Given the description of an element on the screen output the (x, y) to click on. 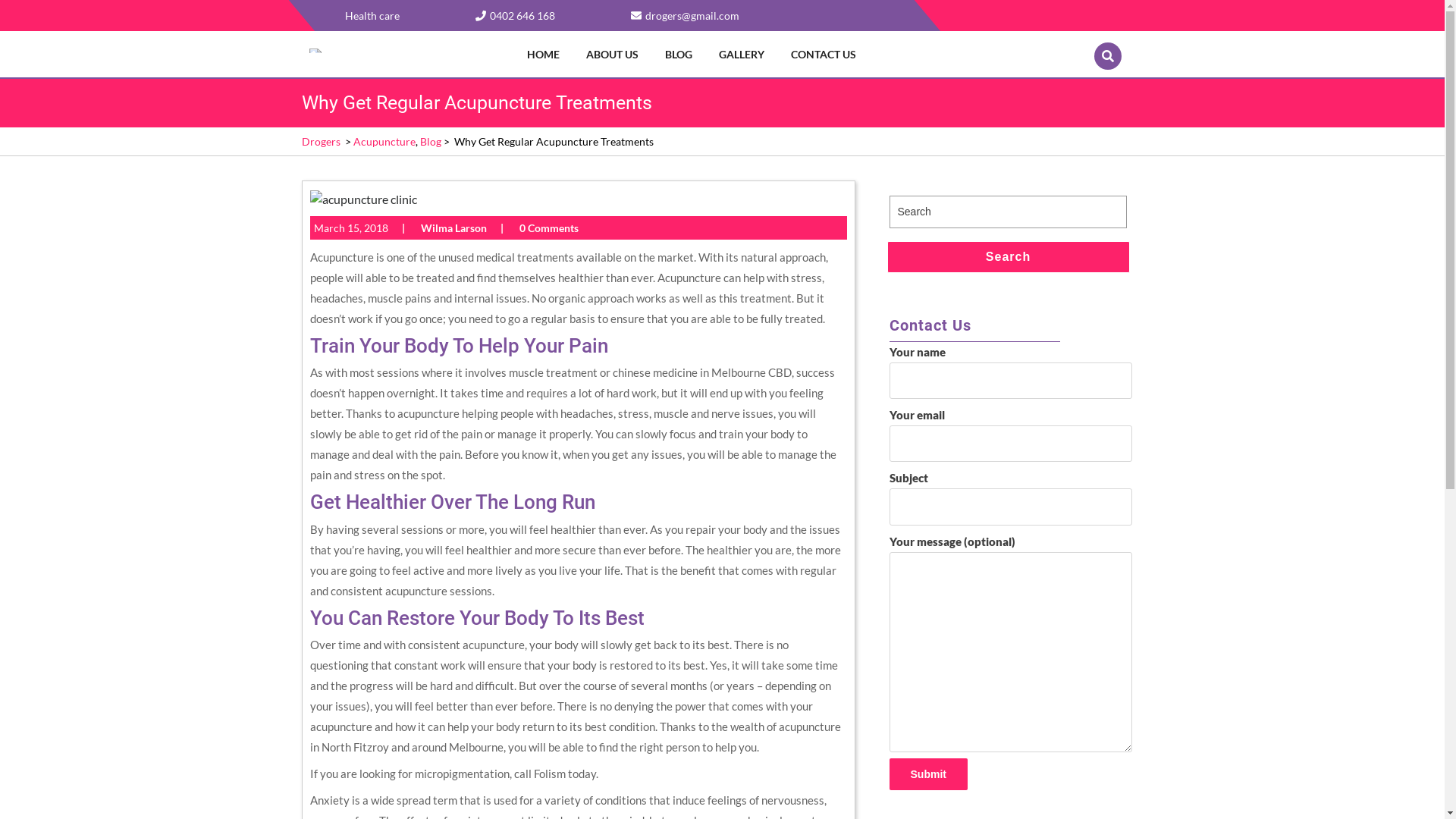
GALLERY Element type: text (744, 54)
Blog Element type: text (430, 141)
Submit Element type: text (927, 774)
Drogers Element type: text (320, 141)
HOME Element type: text (545, 54)
ABOUT US Element type: text (614, 54)
Search Element type: text (1008, 257)
CONTACT US Element type: text (825, 54)
BLOG Element type: text (680, 54)
drogers@gmail.com Element type: text (691, 15)
Acupuncture Element type: text (384, 141)
0402 646 168 Element type: text (514, 15)
